Given the description of an element on the screen output the (x, y) to click on. 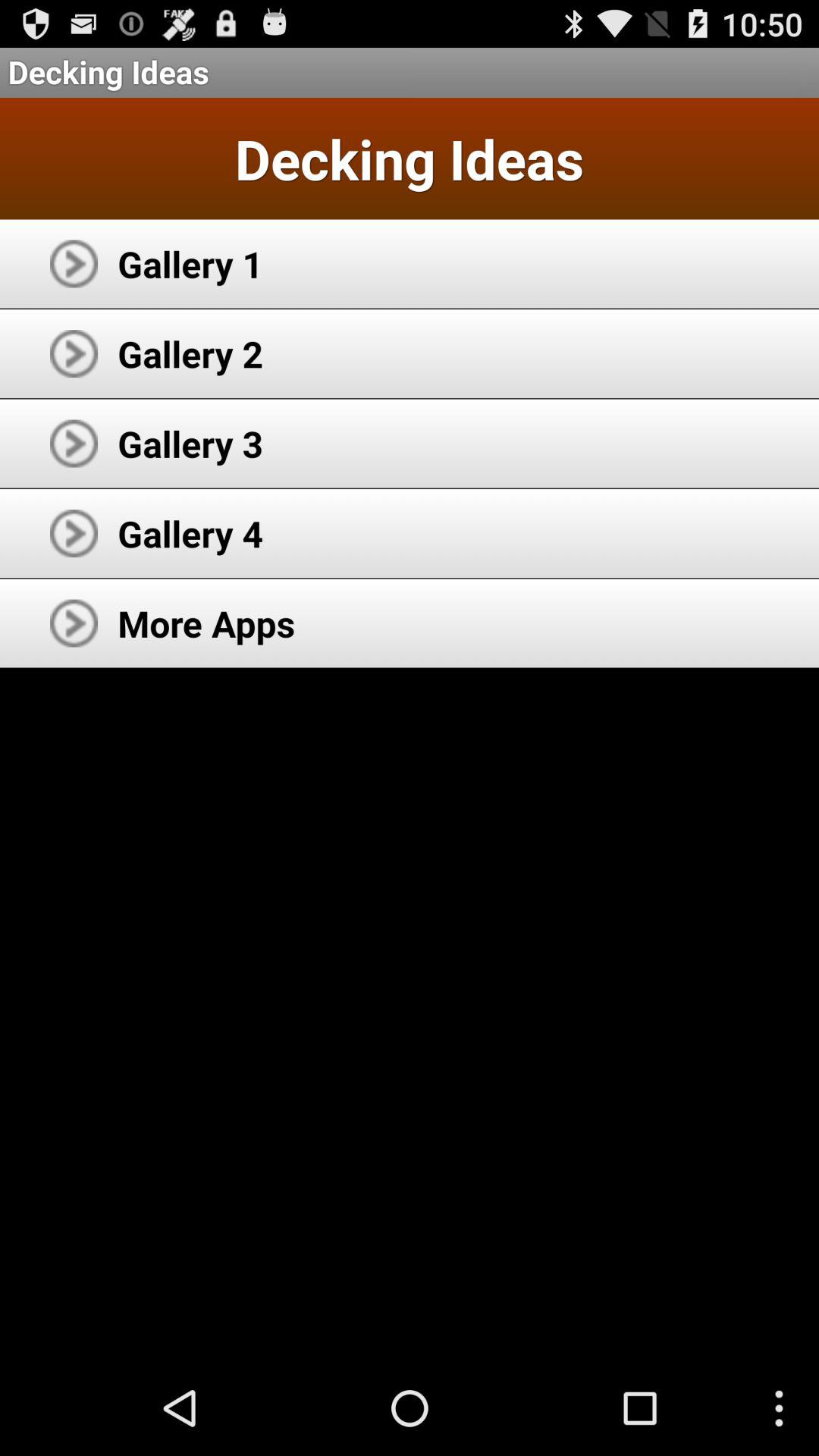
scroll until gallery 4 item (190, 533)
